Given the description of an element on the screen output the (x, y) to click on. 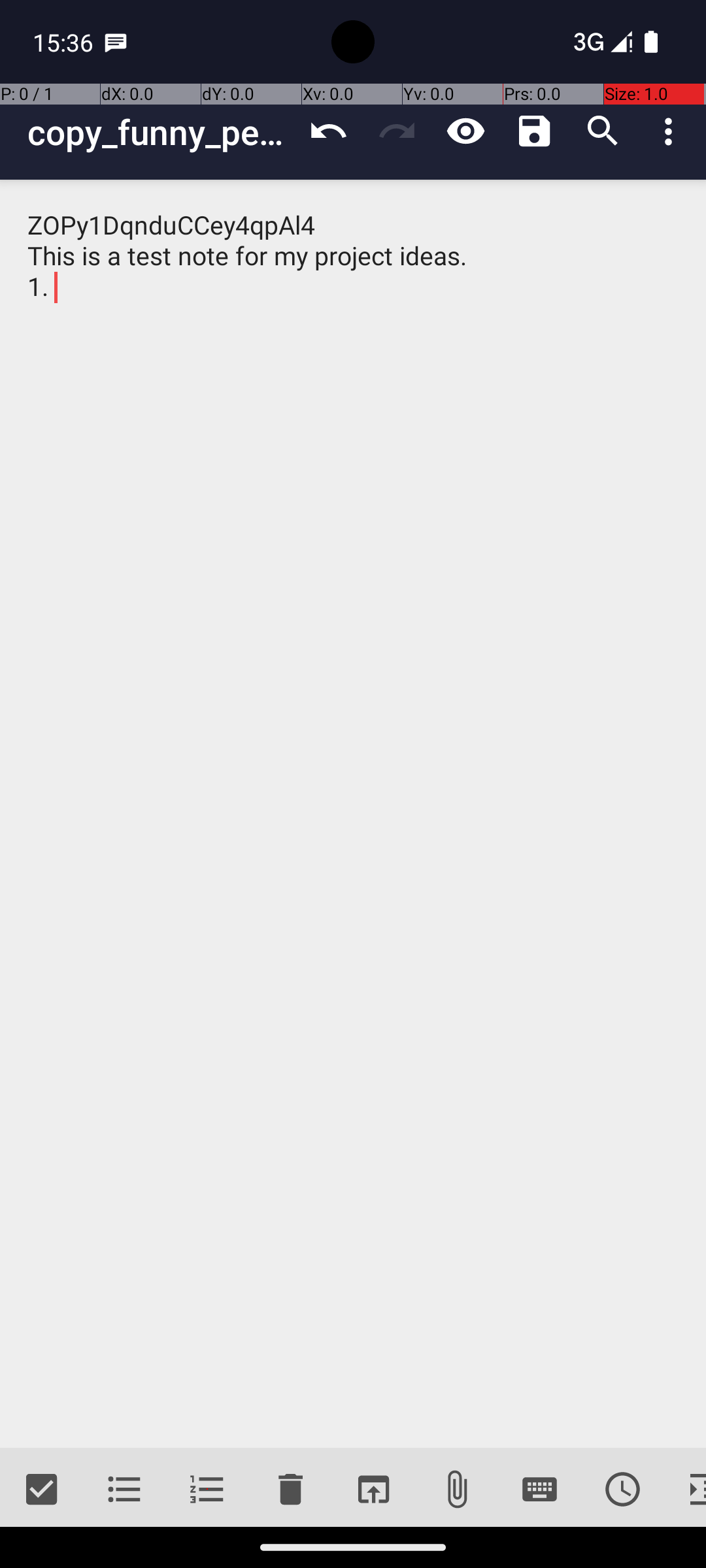
copy_funny_penguin_final Element type: android.widget.TextView (160, 131)
Undo Element type: android.widget.TextView (328, 131)
Redo Element type: android.widget.TextView (396, 131)
View mode Element type: android.widget.TextView (465, 131)
ZOPy1DqnduCCey4qpAl4
This is a test note for my project ideas.
 Element type: android.widget.EditText (353, 813)
Check list Element type: android.widget.ImageView (41, 1488)
Unordered list Element type: android.widget.ImageView (124, 1488)
Ordered list Element type: android.widget.ImageView (207, 1488)
Delete lines Element type: android.widget.ImageView (290, 1488)
Open link Element type: android.widget.ImageView (373, 1488)
Attach Element type: android.widget.ImageView (456, 1488)
Special Key Element type: android.widget.ImageView (539, 1488)
Date and time Element type: android.widget.ImageView (622, 1488)
Indent Element type: android.widget.ImageView (685, 1488)
15:36 Element type: android.widget.TextView (64, 41)
